Given the description of an element on the screen output the (x, y) to click on. 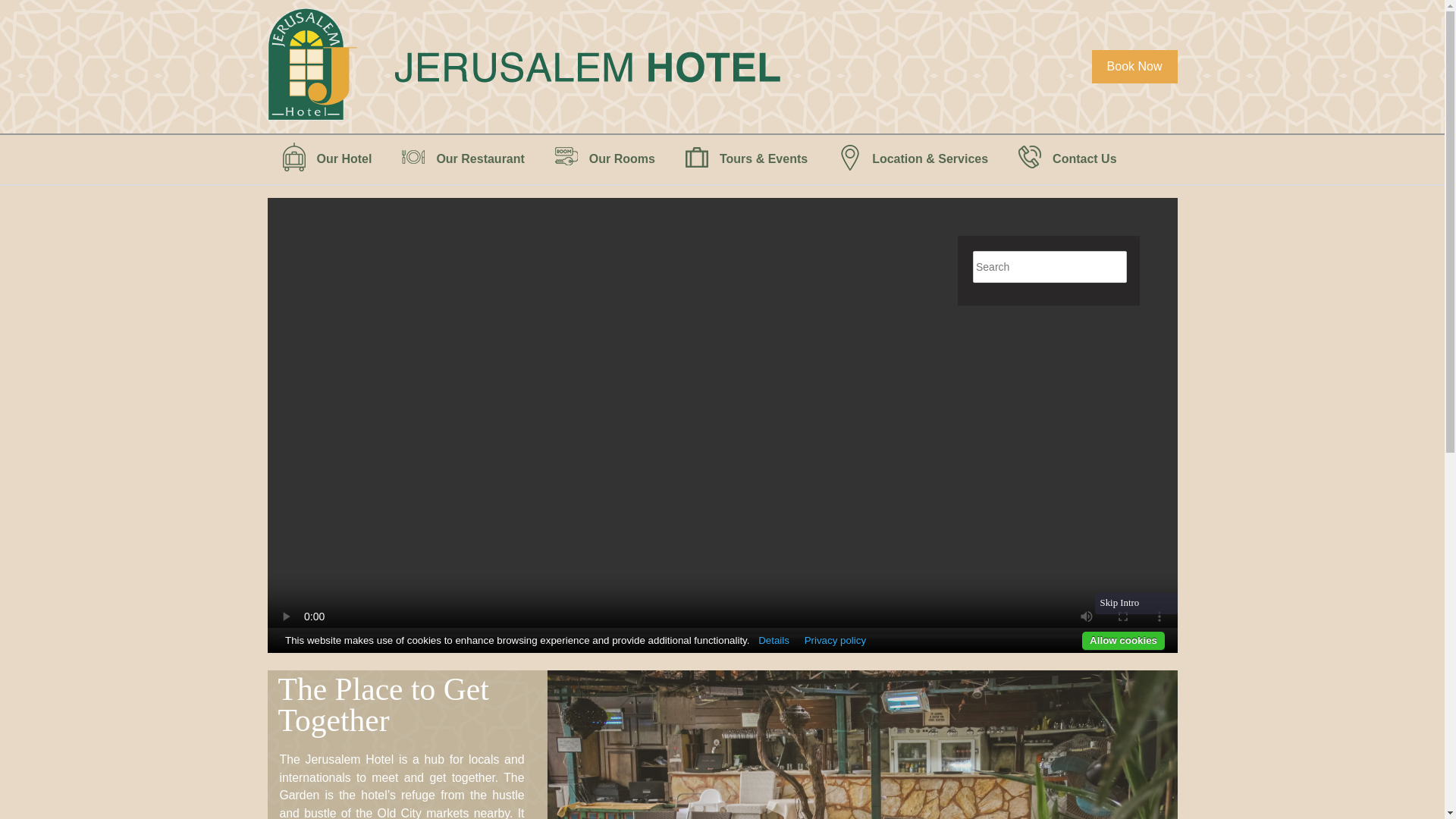
Home (531, 66)
Book Now (1134, 66)
Our Rooms (604, 159)
Our Restaurant (462, 159)
Our Hotel (326, 159)
